Given the description of an element on the screen output the (x, y) to click on. 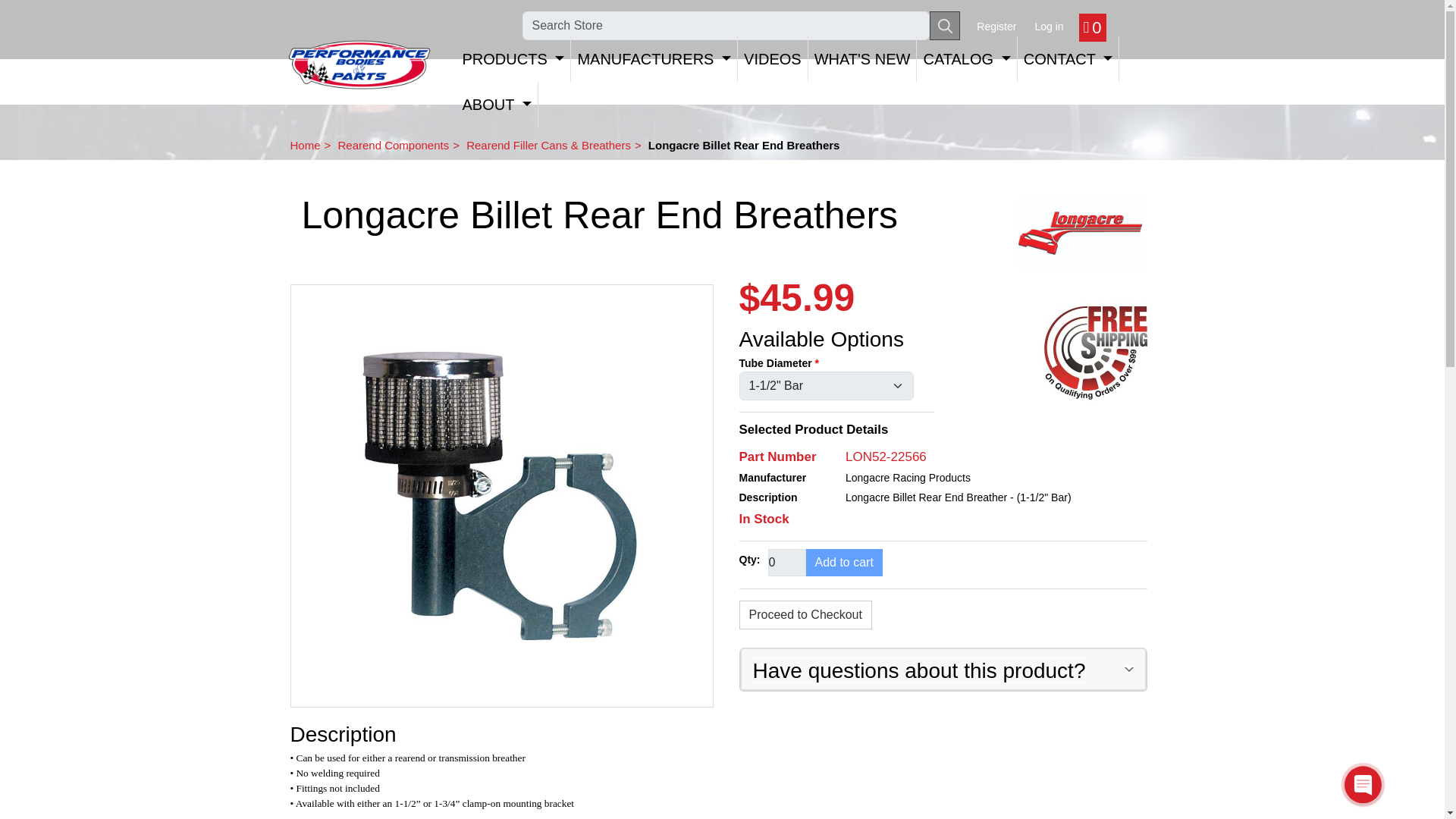
MANUFACTURERS (654, 58)
Log in (1048, 26)
PRODUCTS (514, 58)
Register (996, 26)
Proceed to Checkout (804, 614)
Add to cart (843, 562)
Longacre Racing Products (1079, 233)
0 (786, 562)
